Given the description of an element on the screen output the (x, y) to click on. 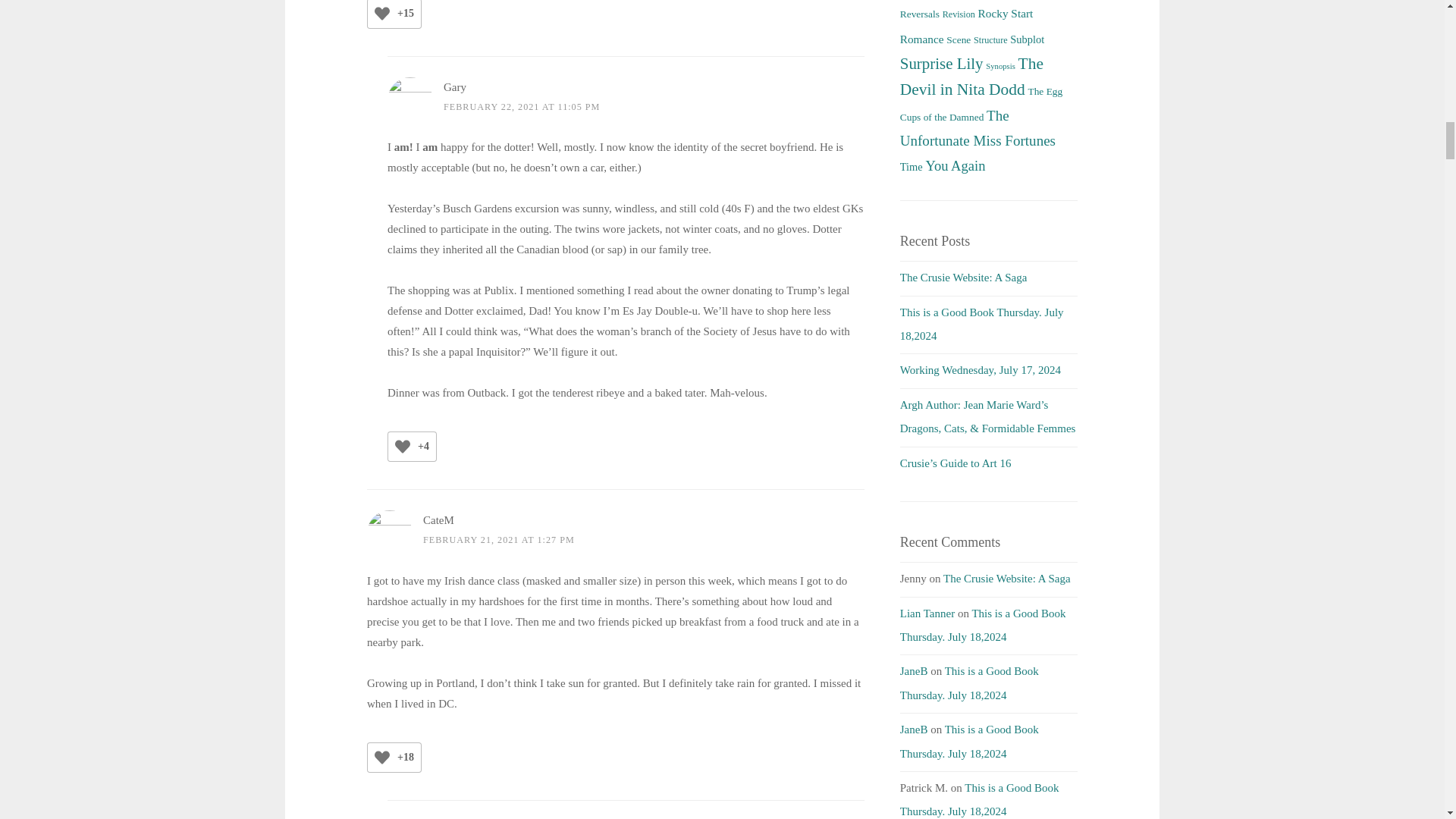
Gary (454, 87)
FEBRUARY 22, 2021 AT 11:05 PM (521, 106)
FEBRUARY 21, 2021 AT 1:27 PM (499, 539)
